Given the description of an element on the screen output the (x, y) to click on. 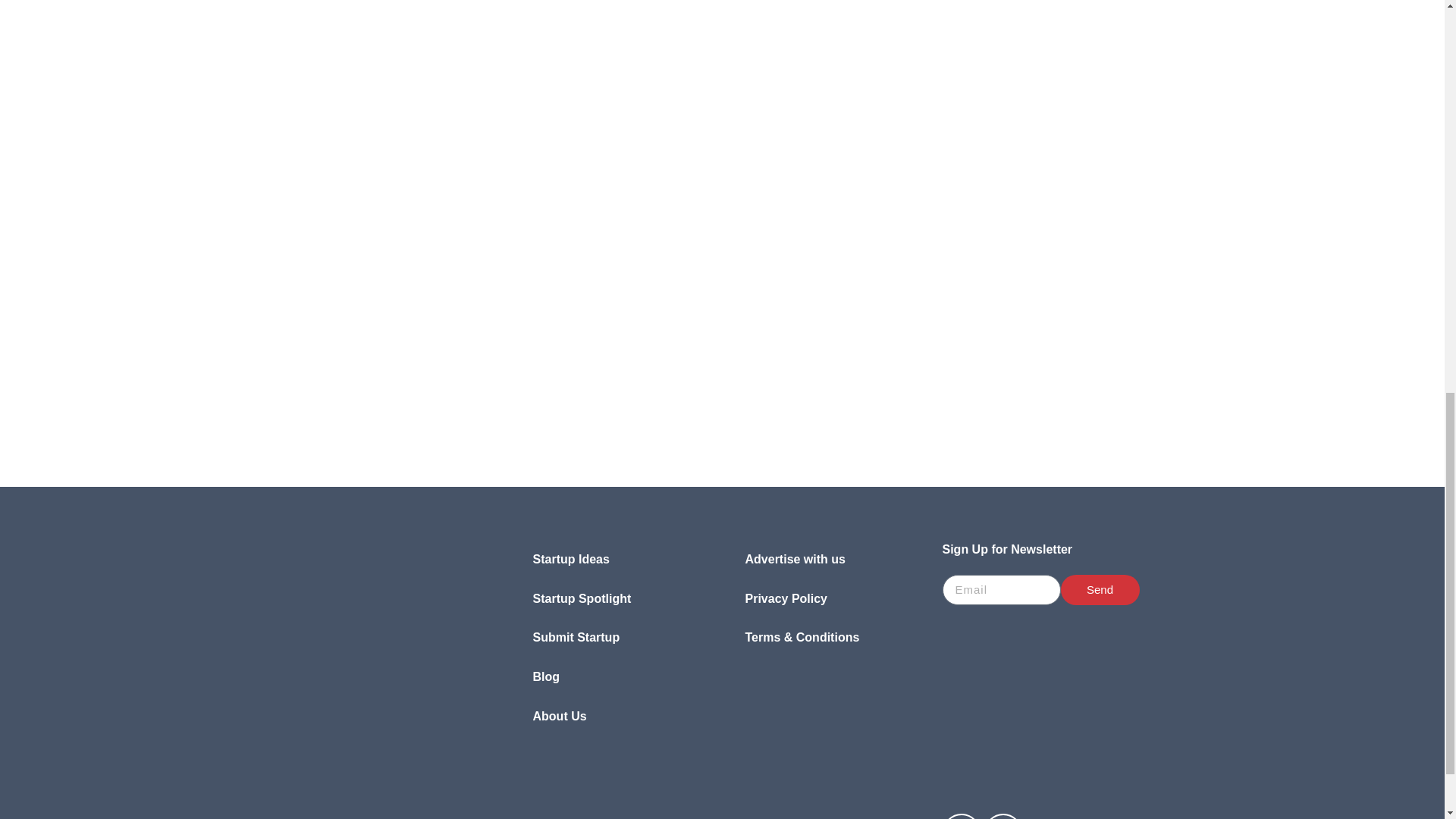
Startup Ideas (615, 559)
Startup Spotlight (615, 599)
About Us (615, 716)
Blog (615, 676)
Submit Startup (615, 637)
